Given the description of an element on the screen output the (x, y) to click on. 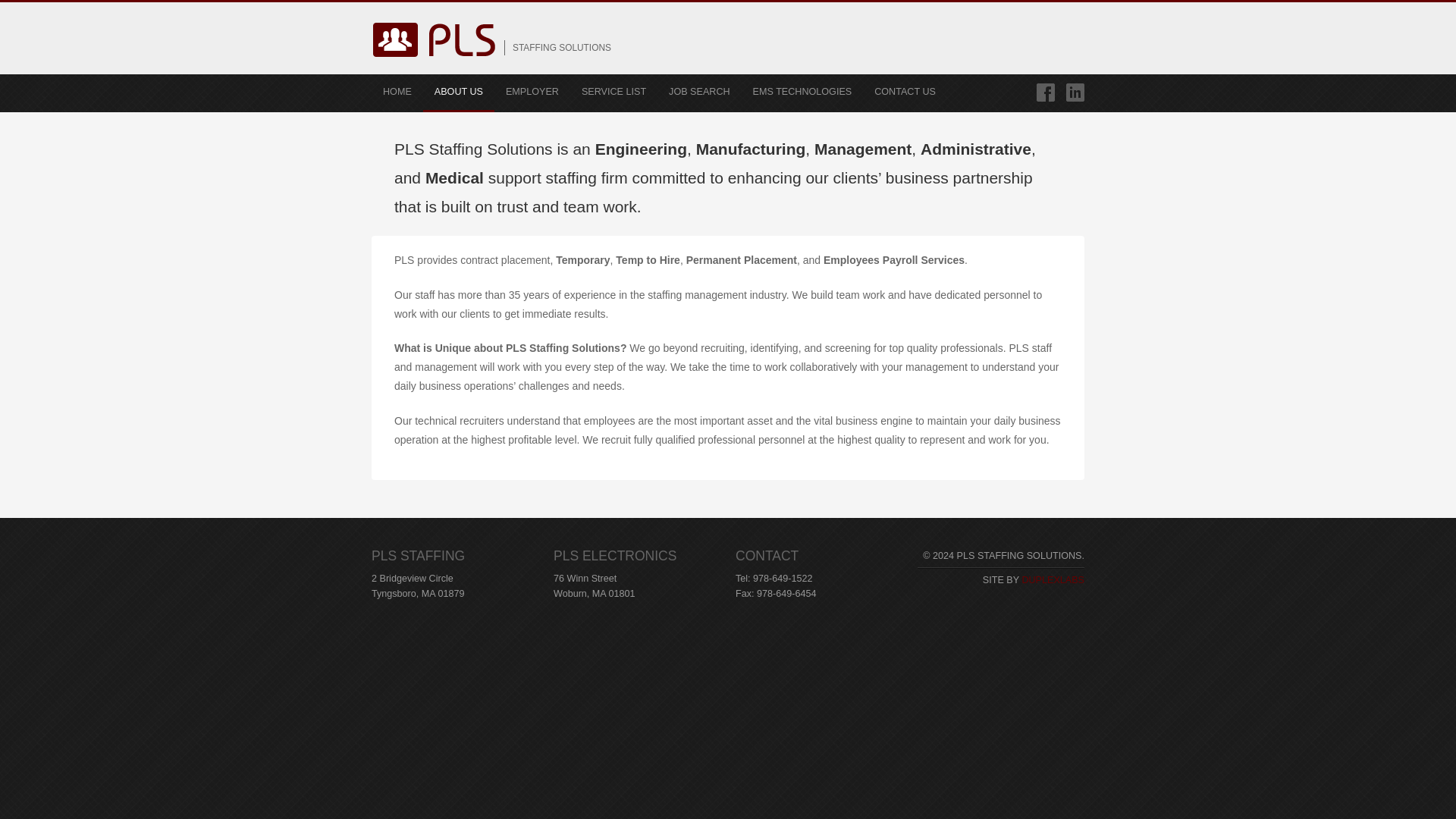
DUPLEXLABS (1053, 579)
EMPLOYER (532, 93)
HOME (397, 93)
JOB SEARCH (699, 93)
PLS (433, 77)
SERVICE LIST (614, 93)
Facebook (1045, 92)
CONTACT US (905, 93)
ABOUT US (459, 93)
DuplexLabs (1053, 579)
